Given the description of an element on the screen output the (x, y) to click on. 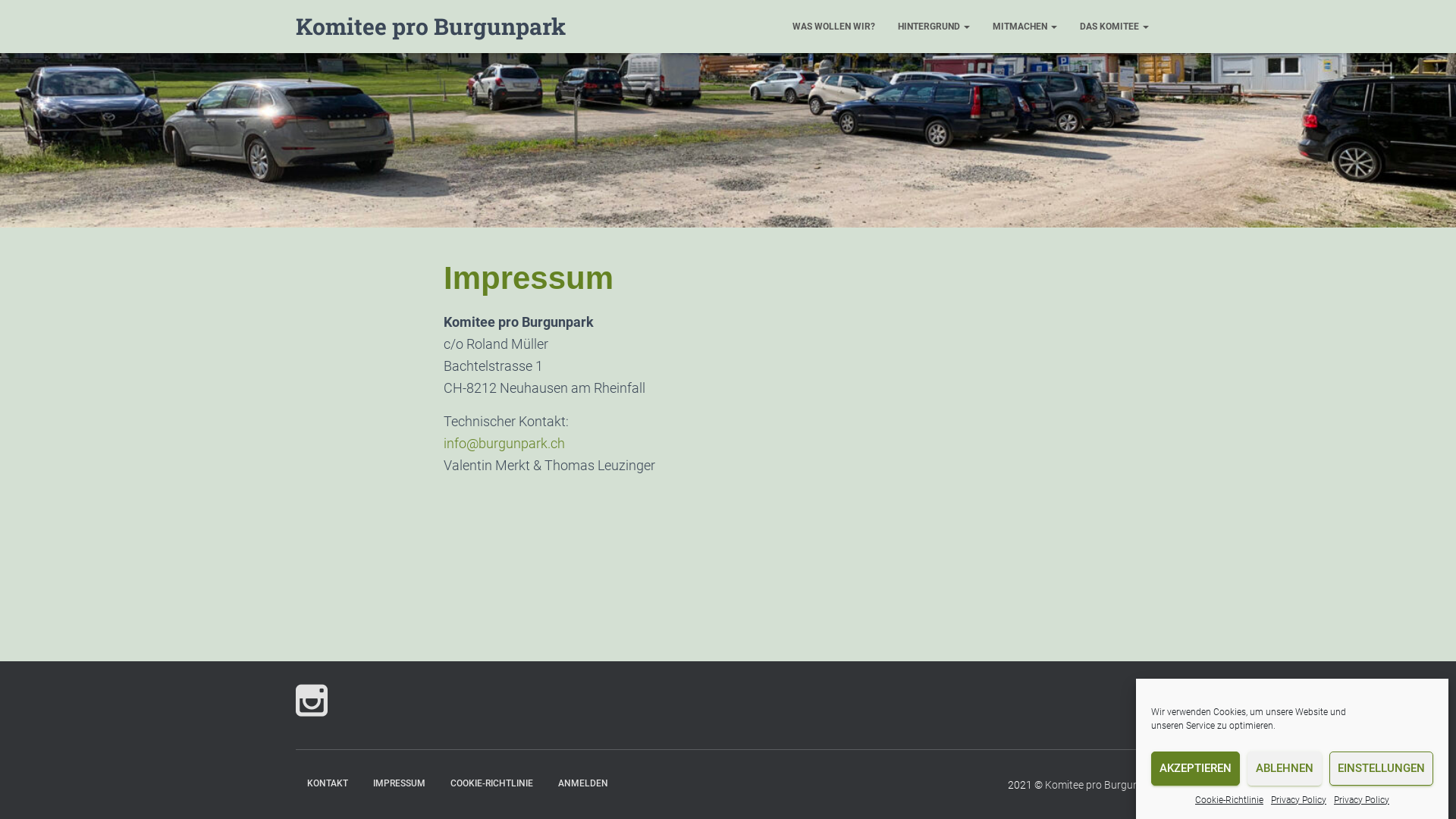
Komitee pro Burgunpark Element type: text (430, 26)
EINSTELLUNGEN Element type: text (1381, 768)
info@burgunpark.ch Element type: text (503, 443)
ANMELDEN Element type: text (582, 783)
Privacy Policy Element type: text (1361, 800)
WAS WOLLEN WIR? Element type: text (833, 26)
IMPRESSUM Element type: text (398, 783)
Privacy Policy Element type: text (1298, 800)
MITMACHEN Element type: text (1024, 26)
AKZEPTIEREN Element type: text (1195, 768)
ABLEHNEN Element type: text (1284, 768)
COOKIE-RICHTLINIE Element type: text (491, 783)
KONTAKT Element type: text (327, 783)
Komitee pro Burgunpark Element type: text (1102, 784)
DAS KOMITEE Element type: text (1114, 26)
Cookie-Richtlinie Element type: text (1229, 800)
HINTERGRUND Element type: text (933, 26)
